Given the description of an element on the screen output the (x, y) to click on. 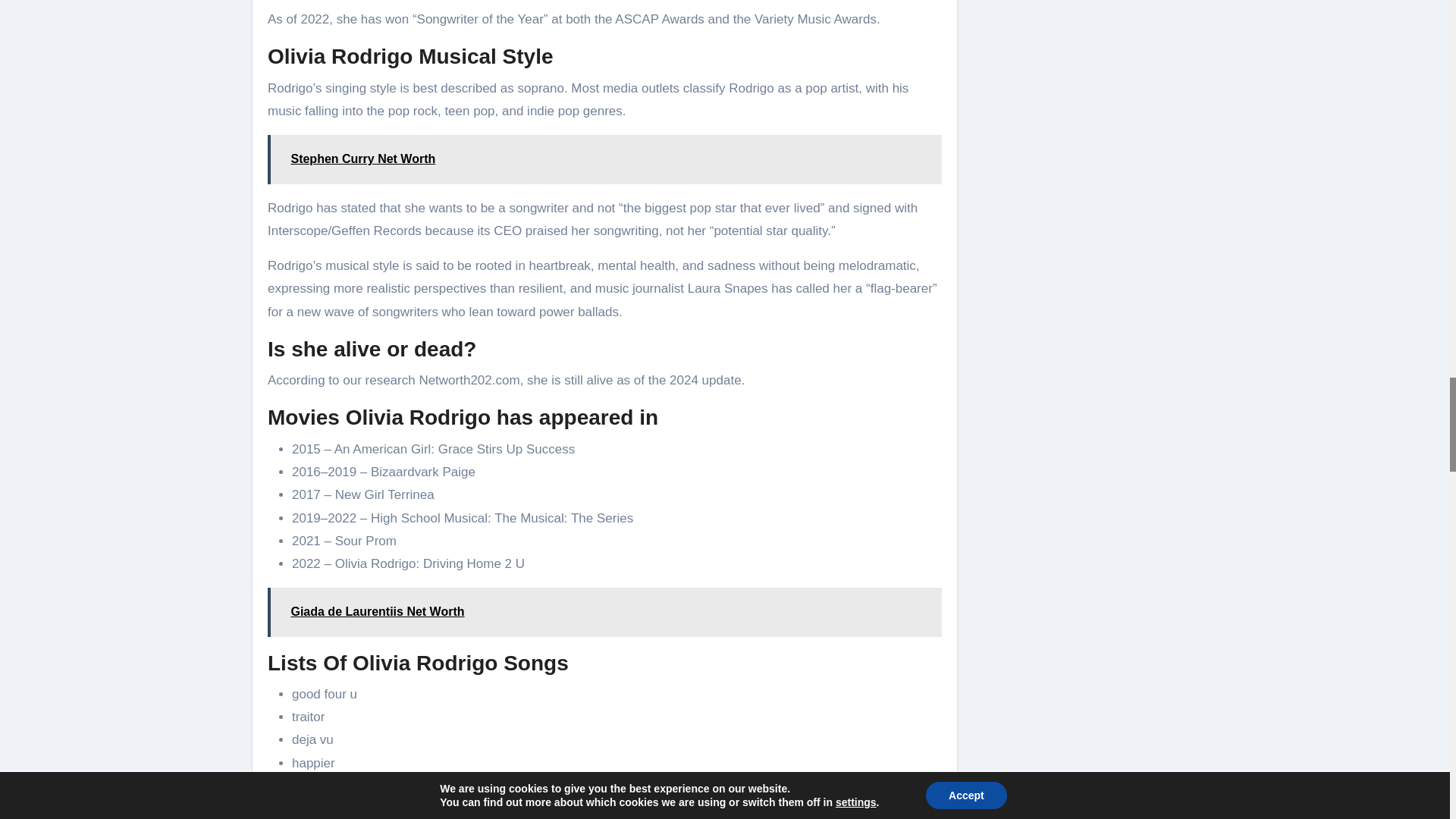
  Stephen Curry Net Worth (604, 159)
  Giada de Laurentiis Net Worth (604, 612)
